Given the description of an element on the screen output the (x, y) to click on. 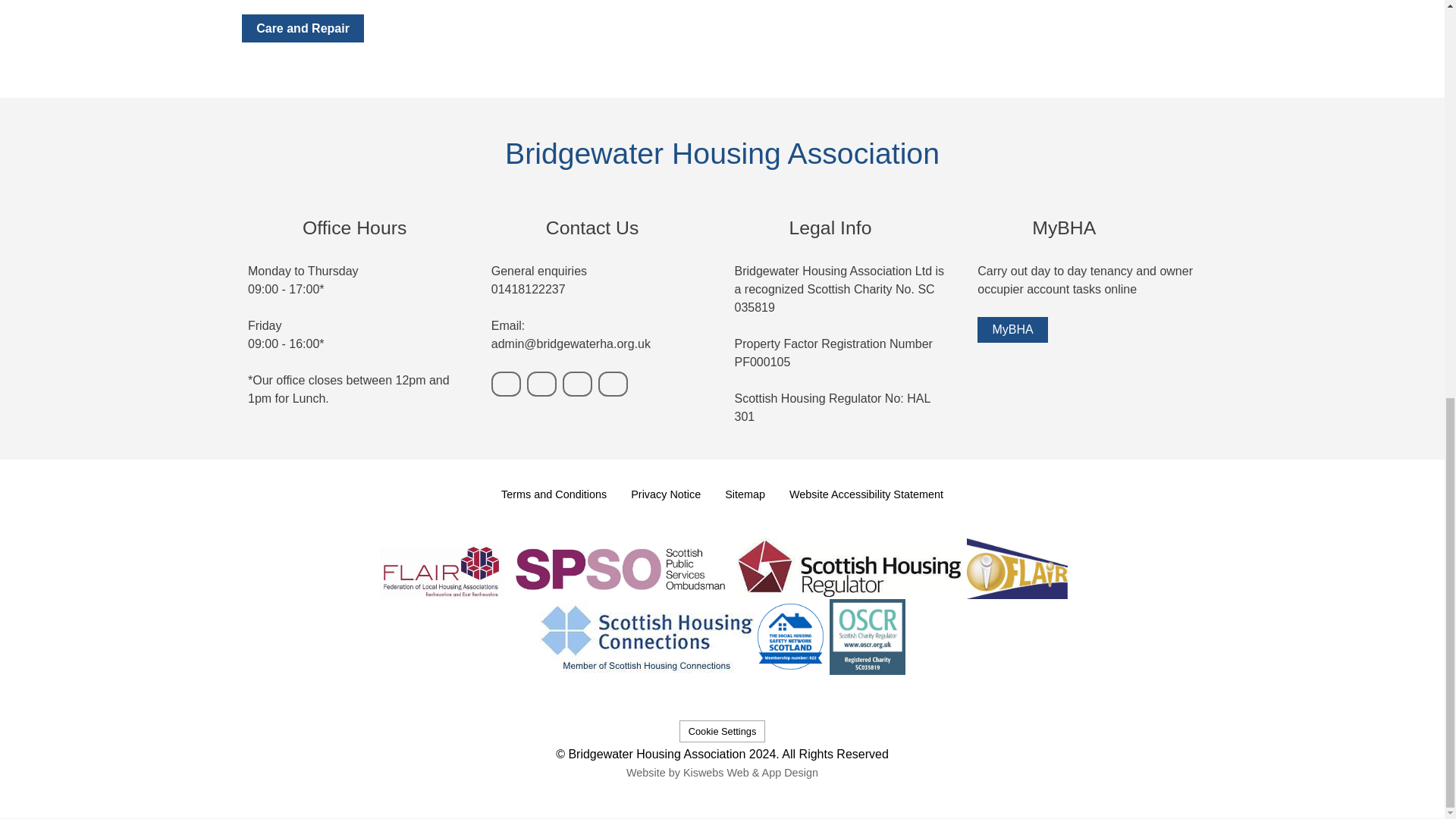
X (612, 383)
Facebook (577, 383)
Phone (506, 383)
Email (541, 383)
